Given the description of an element on the screen output the (x, y) to click on. 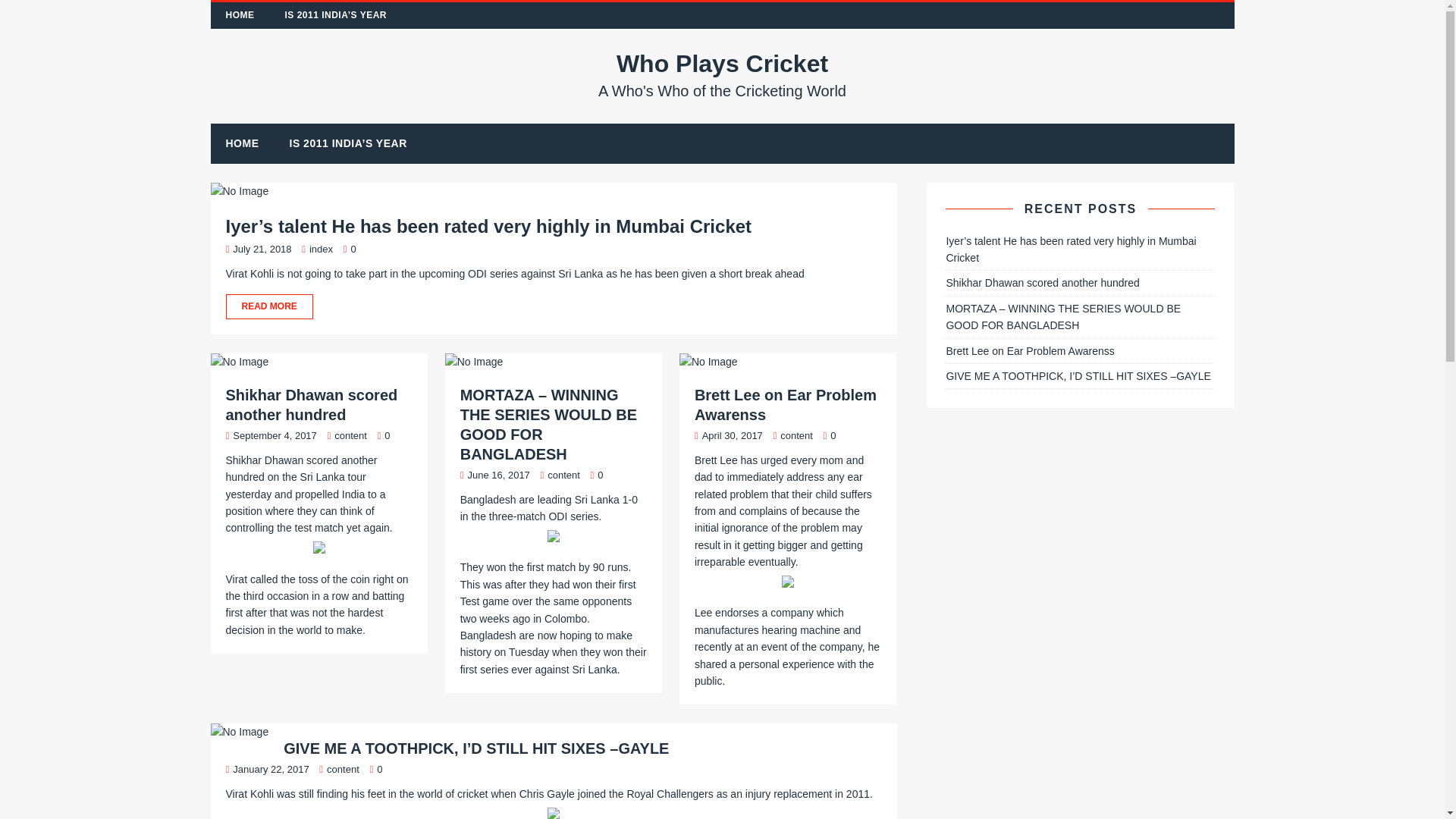
HOME (243, 142)
Brett Lee on Ear Problem Awarenss (785, 404)
content (350, 435)
READ MORE (553, 306)
content (796, 435)
Who Plays Cricket (722, 74)
HOME (240, 15)
content (722, 74)
index (342, 768)
